Given the description of an element on the screen output the (x, y) to click on. 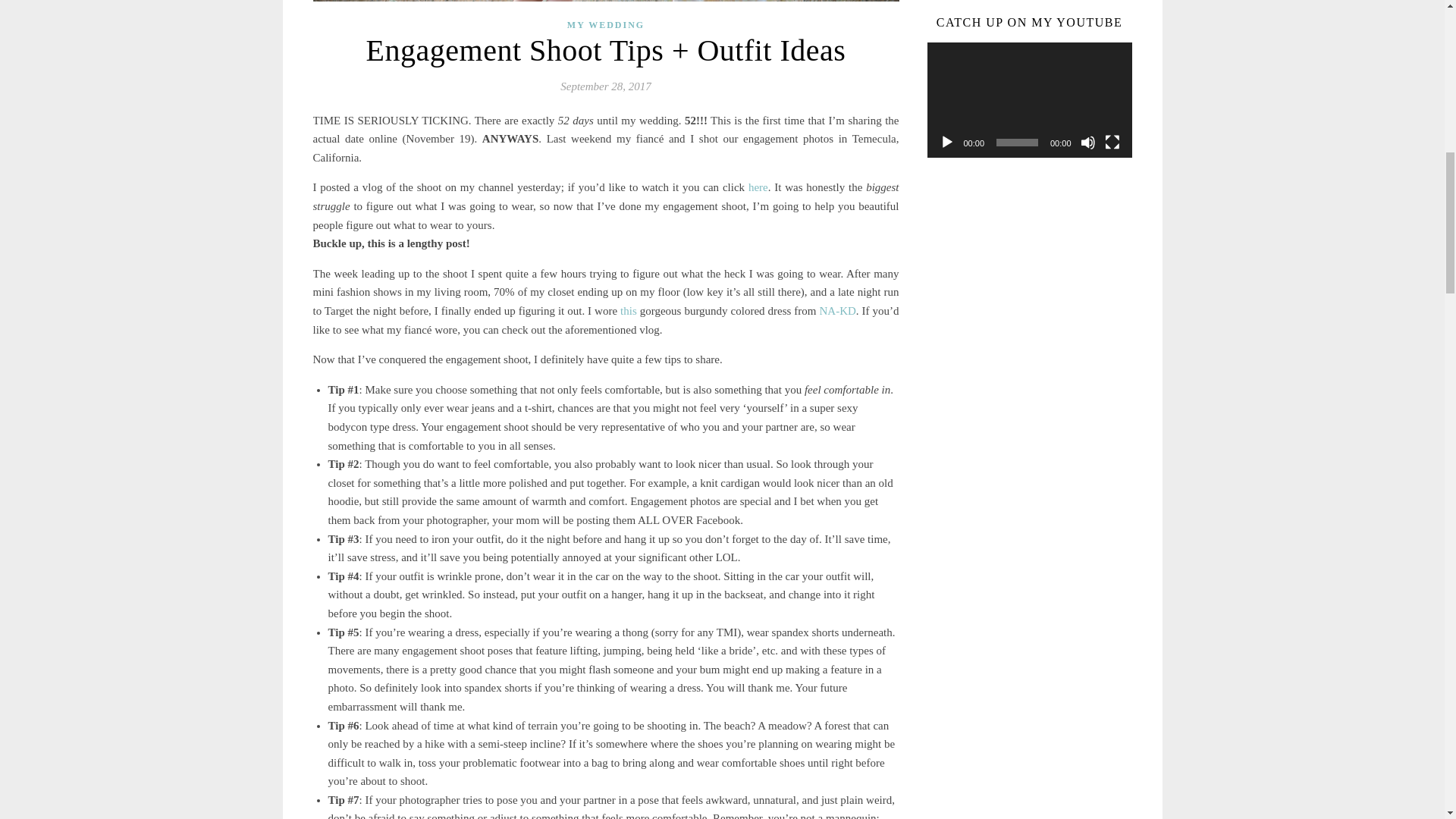
here (758, 186)
MY WEDDING (606, 24)
this (628, 310)
Play (946, 142)
Mute (1087, 142)
Fullscreen (1111, 142)
